Given the description of an element on the screen output the (x, y) to click on. 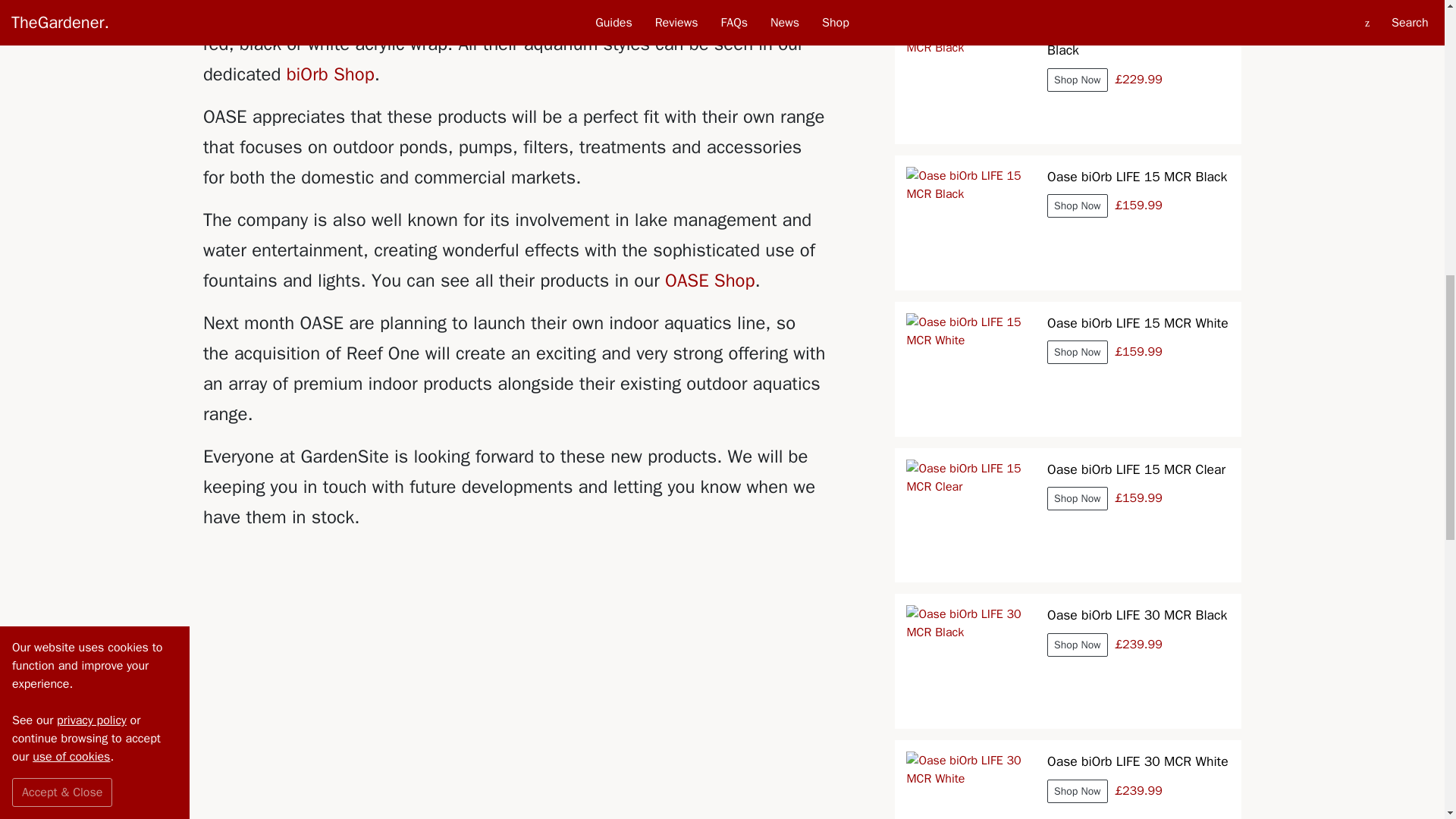
biOrb Shop (330, 74)
Oase biOrb LIFE 15 MCR White (970, 368)
Oase biOrb TUBE 35 MCR Black (970, 76)
Oase biOrb LIFE 30 MCR Black (970, 661)
Oase biOrb LIFE 30 MCR White (970, 785)
OASE Shop (709, 280)
Oase biOrb LIFE 15 MCR Black (970, 223)
Oase biOrb LIFE 15 MCR Clear (970, 515)
